Given the description of an element on the screen output the (x, y) to click on. 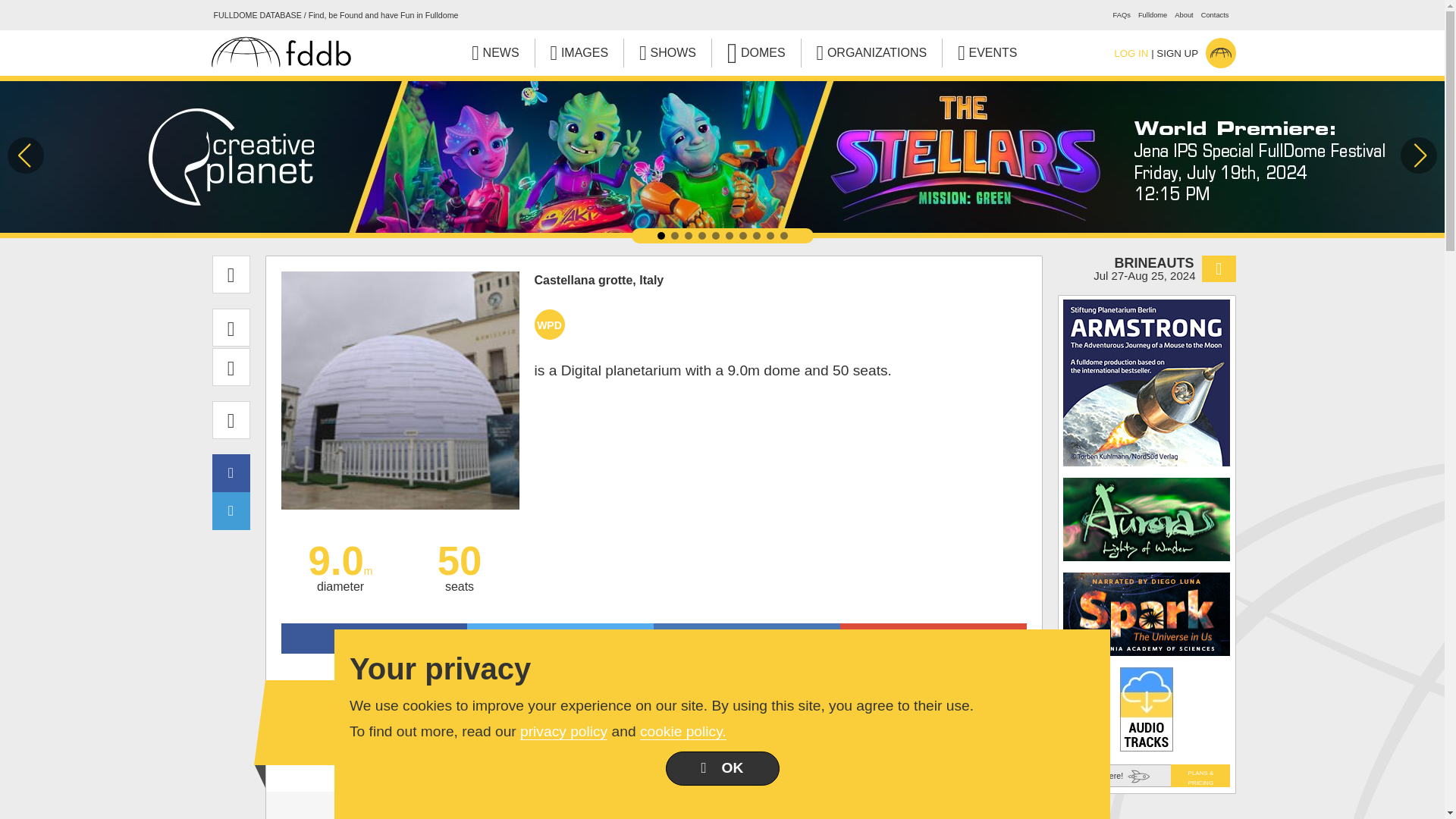
Fulldome (1152, 14)
DOMES (756, 52)
OK (721, 768)
About (1183, 14)
privacy policy (563, 731)
cookie policy. (683, 731)
SHOWS (667, 52)
NEWS (494, 52)
IMAGES (579, 52)
Contacts (1214, 14)
EVENTS (987, 52)
ORGANIZATIONS (871, 52)
FAQs (1122, 14)
